Given the description of an element on the screen output the (x, y) to click on. 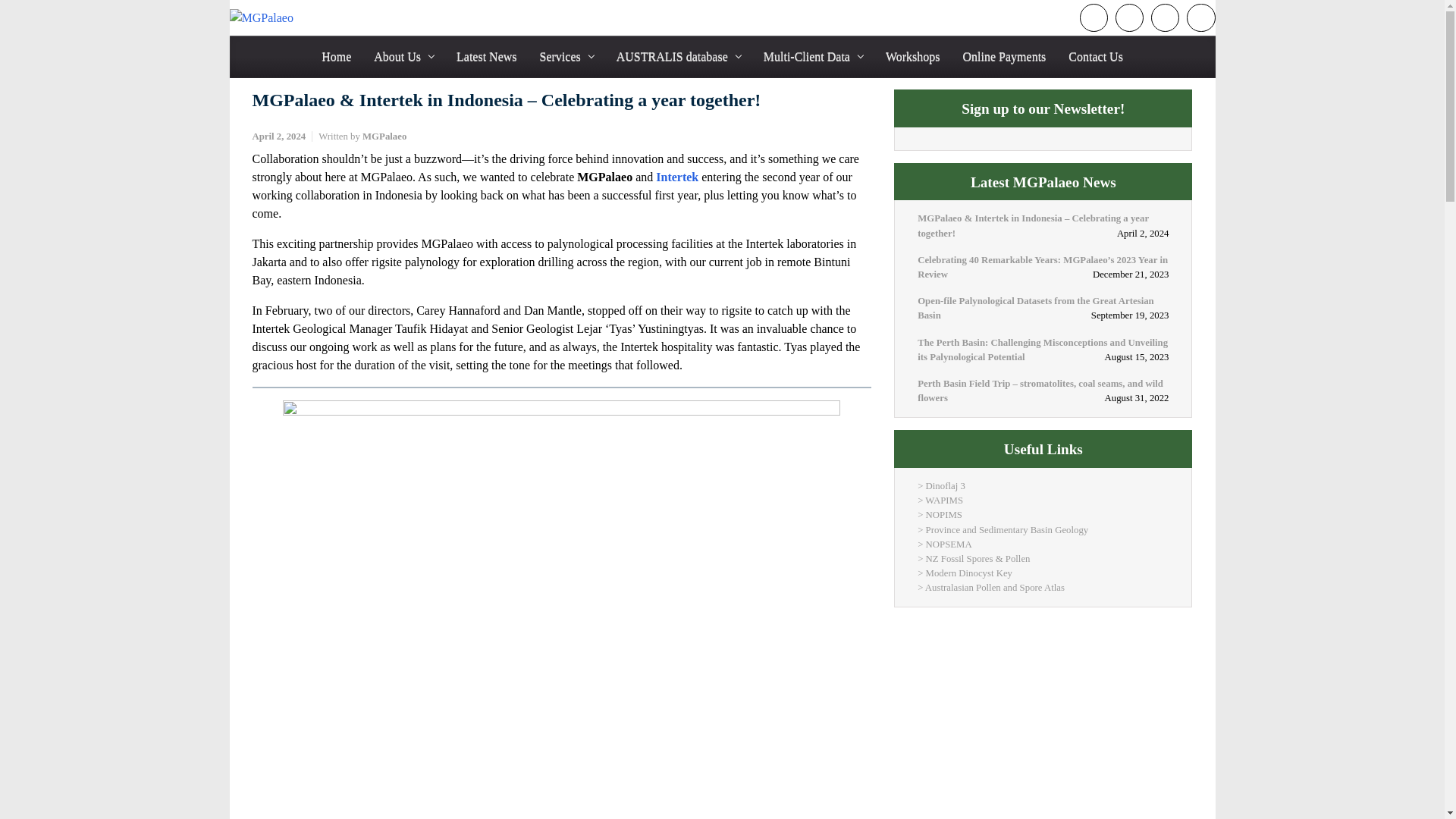
LinkedIn (1200, 17)
View all posts by MGPalaeo (384, 136)
Latest News (485, 56)
AUSTRALIS database (678, 56)
Newsletter (1128, 17)
Services (566, 56)
RSS Feed (1094, 17)
About Us (403, 56)
Multi-Client Data (813, 56)
Home (335, 56)
Instagram (1165, 17)
